Given the description of an element on the screen output the (x, y) to click on. 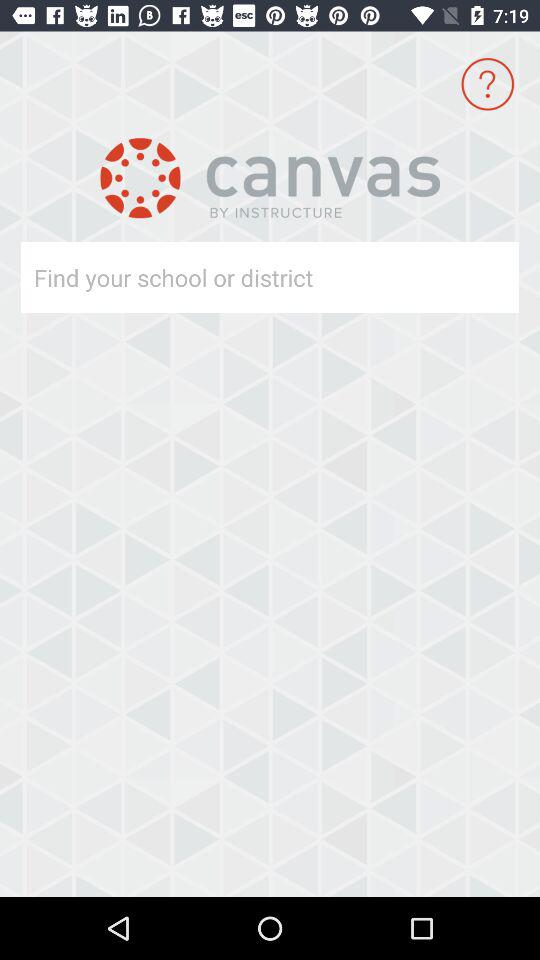
choose the icon at the top right corner (487, 83)
